Given the description of an element on the screen output the (x, y) to click on. 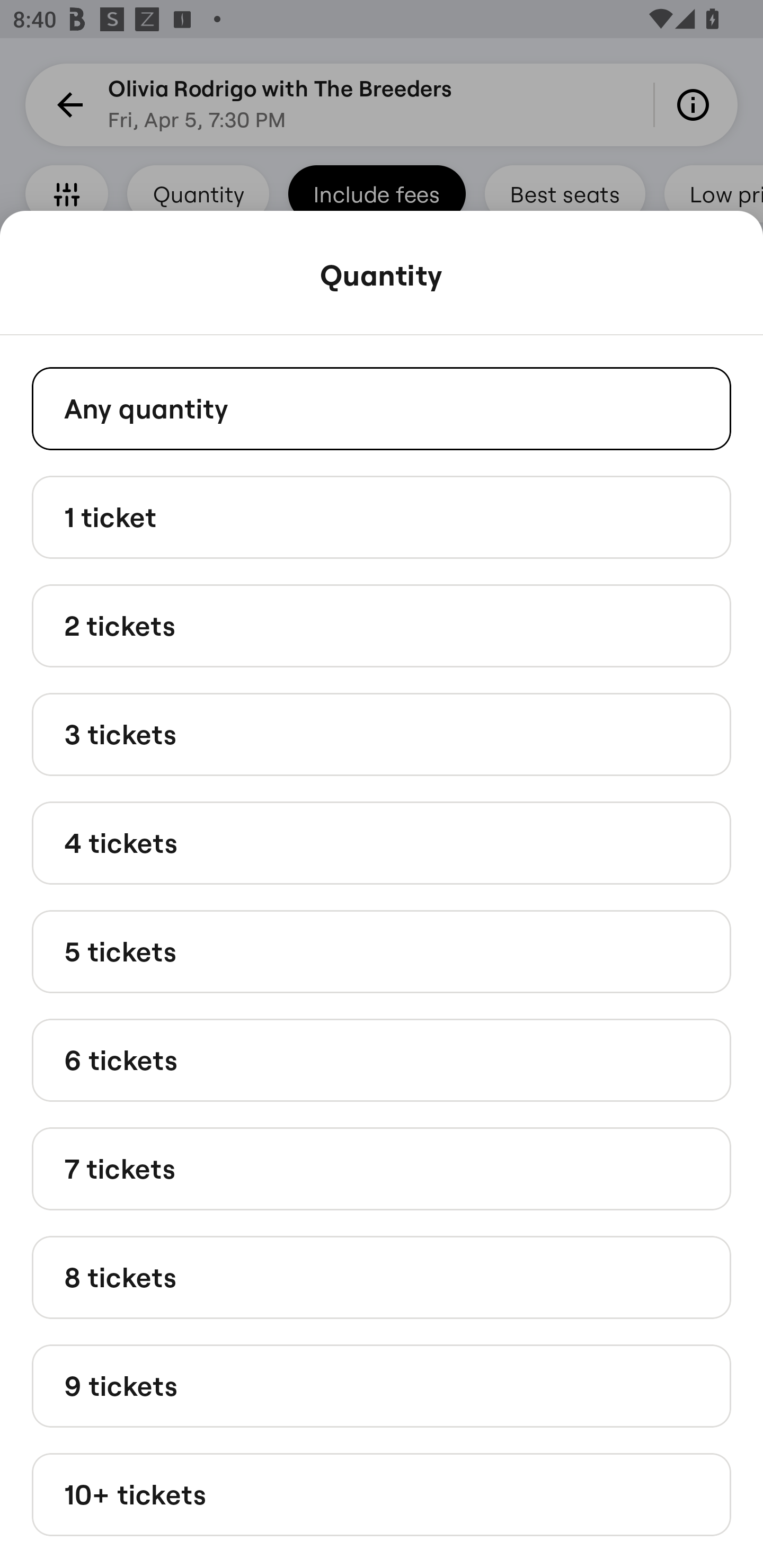
Any quantity (381, 408)
1 ticket (381, 516)
2 tickets (381, 625)
3 tickets (381, 734)
4 tickets (381, 842)
5 tickets (381, 950)
6 tickets (381, 1060)
7 tickets (381, 1168)
8 tickets (381, 1276)
9 tickets (381, 1384)
10+ tickets (381, 1494)
